Given the description of an element on the screen output the (x, y) to click on. 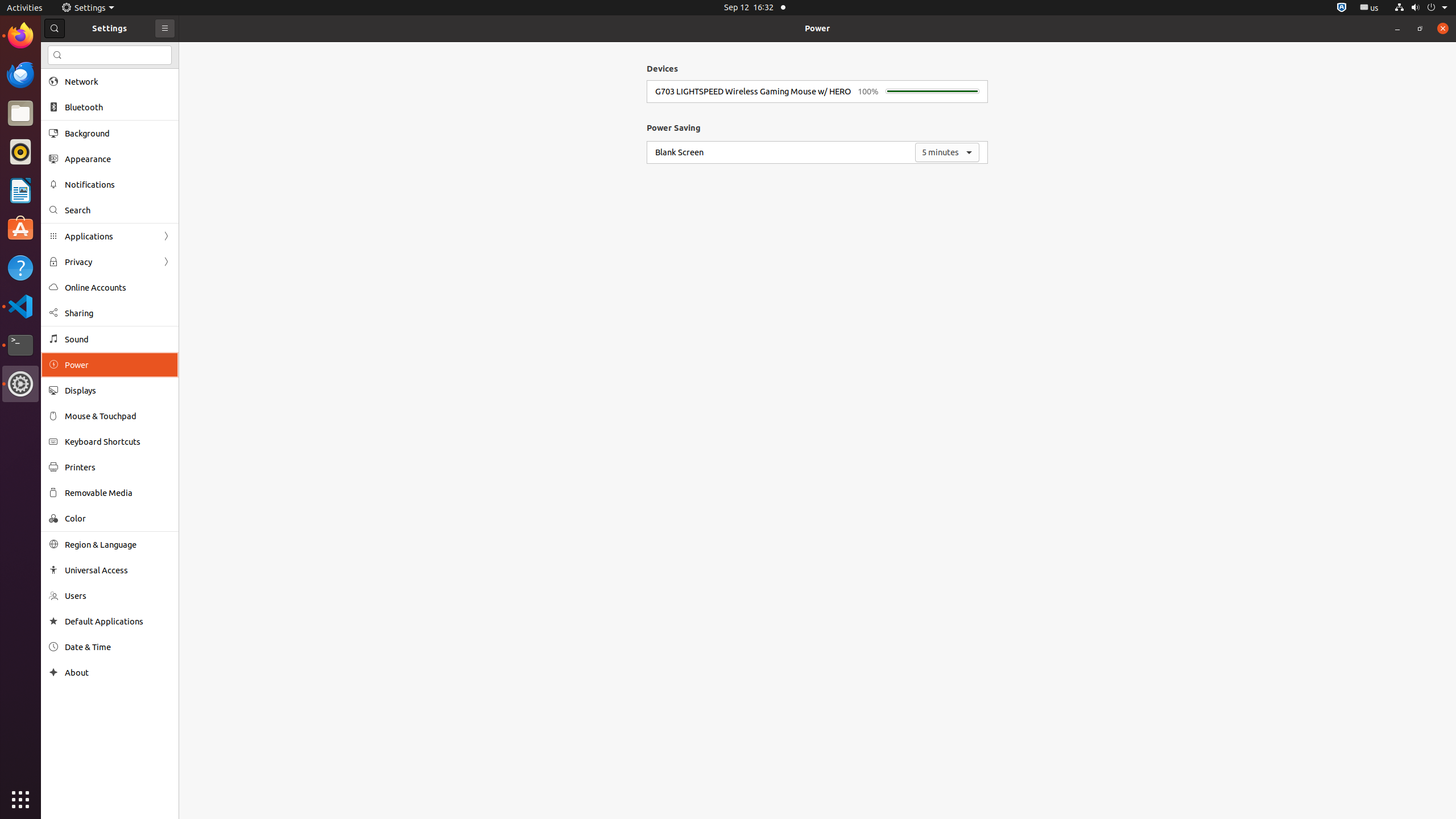
Power Saving Element type: label (673, 127)
Background Element type: label (117, 133)
li.txt Element type: label (146, 50)
Displays Element type: label (117, 390)
